Given the description of an element on the screen output the (x, y) to click on. 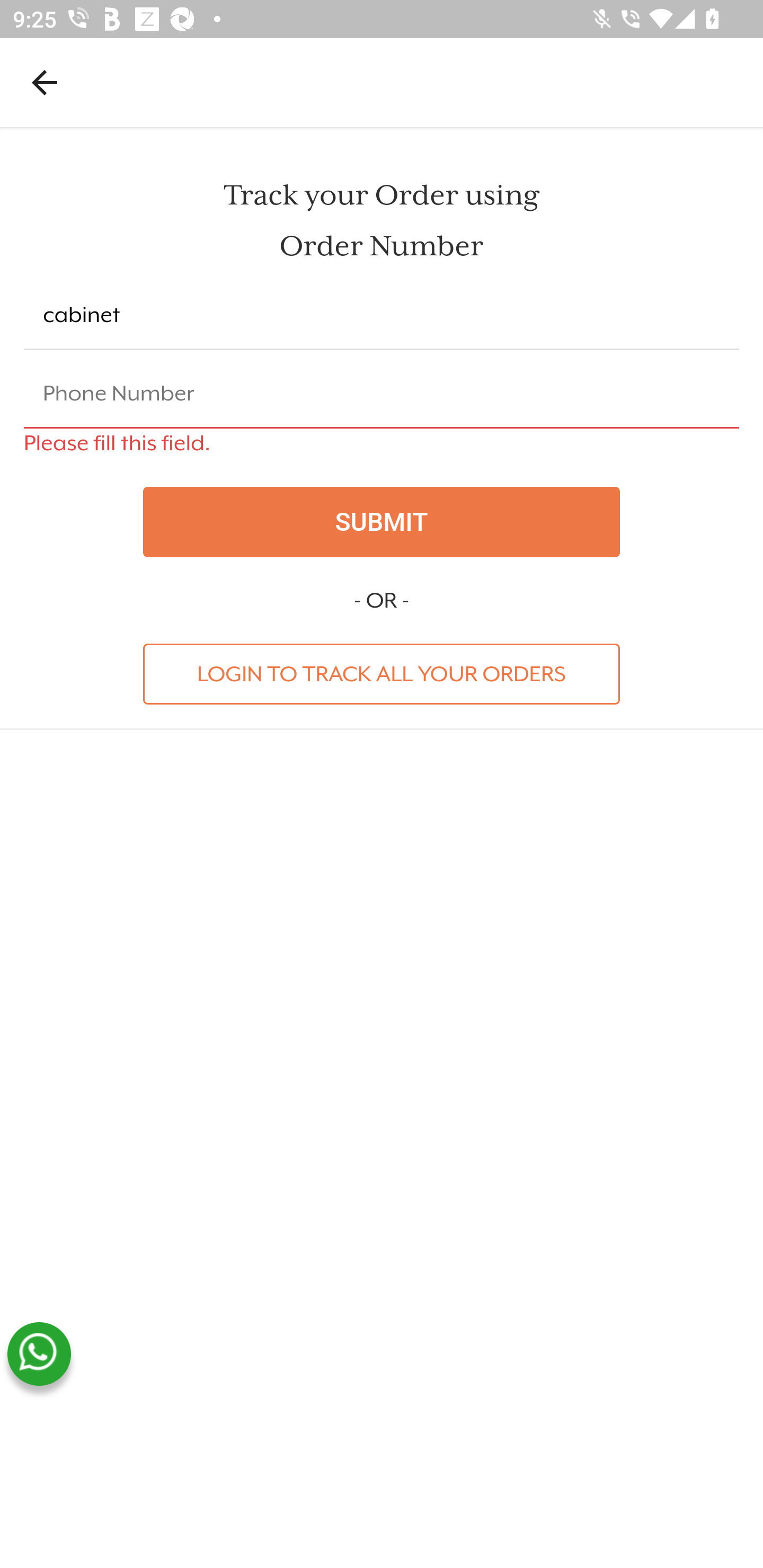
Navigate up (44, 82)
cabinet (381, 315)
SUBMIT (381, 522)
LOGIN TO TRACK ALL YOUR ORDERS (381, 673)
whatsapp (38, 1353)
